Given the description of an element on the screen output the (x, y) to click on. 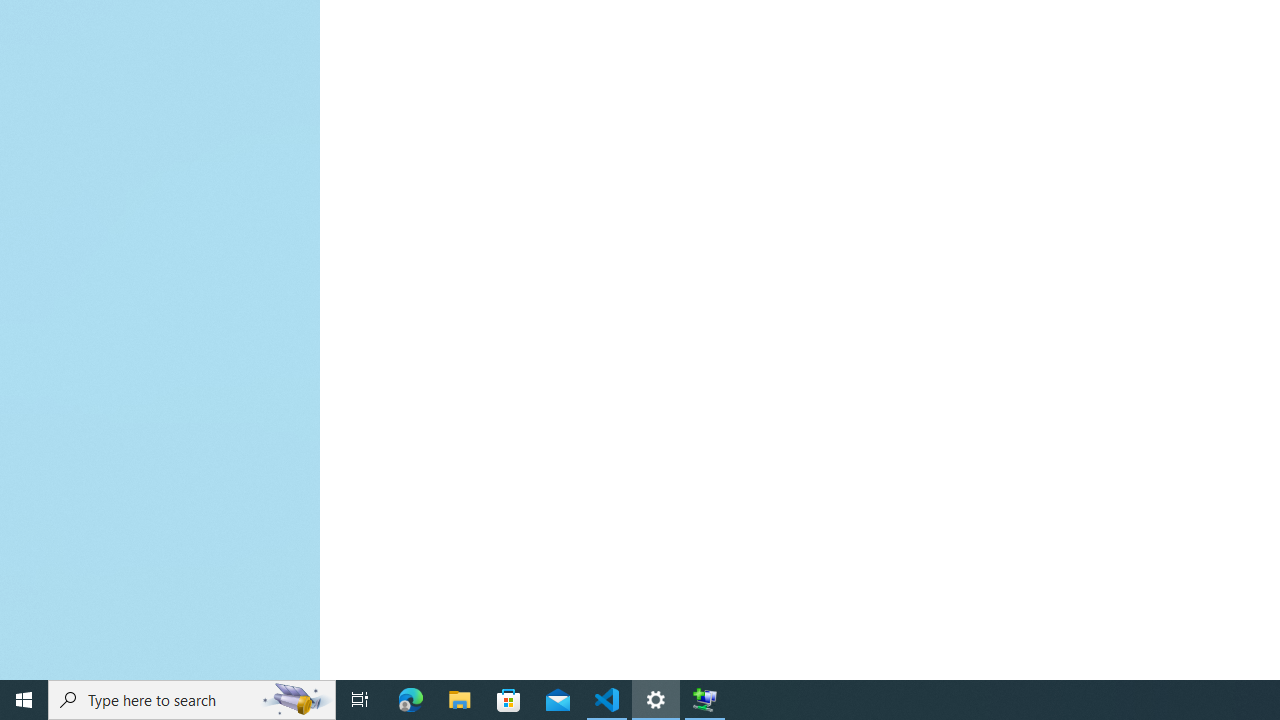
File Explorer (460, 699)
Extensible Wizards Host Process - 1 running window (704, 699)
Task View (359, 699)
Microsoft Edge (411, 699)
Settings - 1 running window (656, 699)
Microsoft Store (509, 699)
Start (24, 699)
Type here to search (191, 699)
Search highlights icon opens search home window (295, 699)
Visual Studio Code - 1 running window (607, 699)
